Given the description of an element on the screen output the (x, y) to click on. 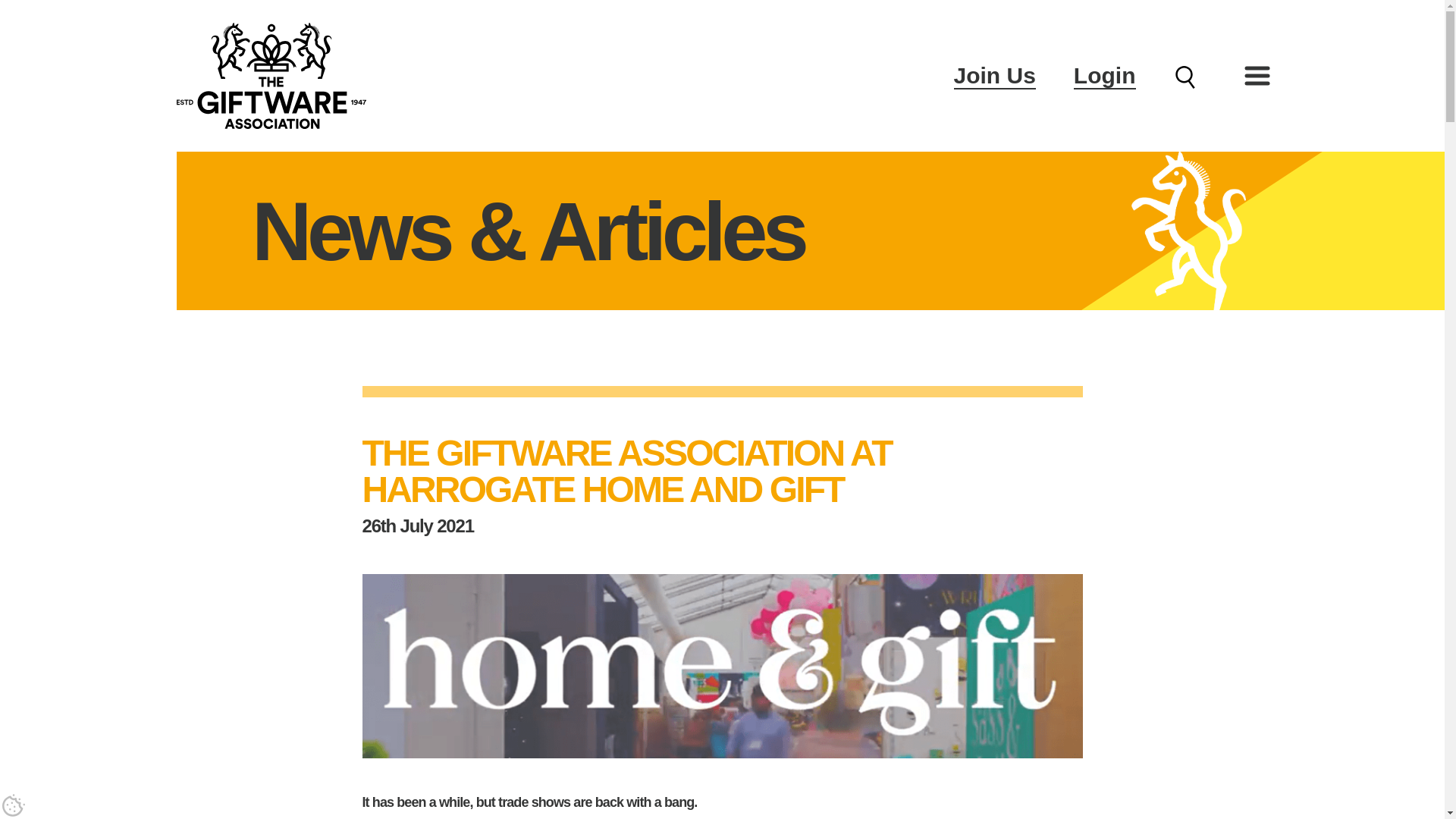
Join Us (994, 75)
cookie settings (13, 805)
Login (1104, 75)
login (853, 437)
